Given the description of an element on the screen output the (x, y) to click on. 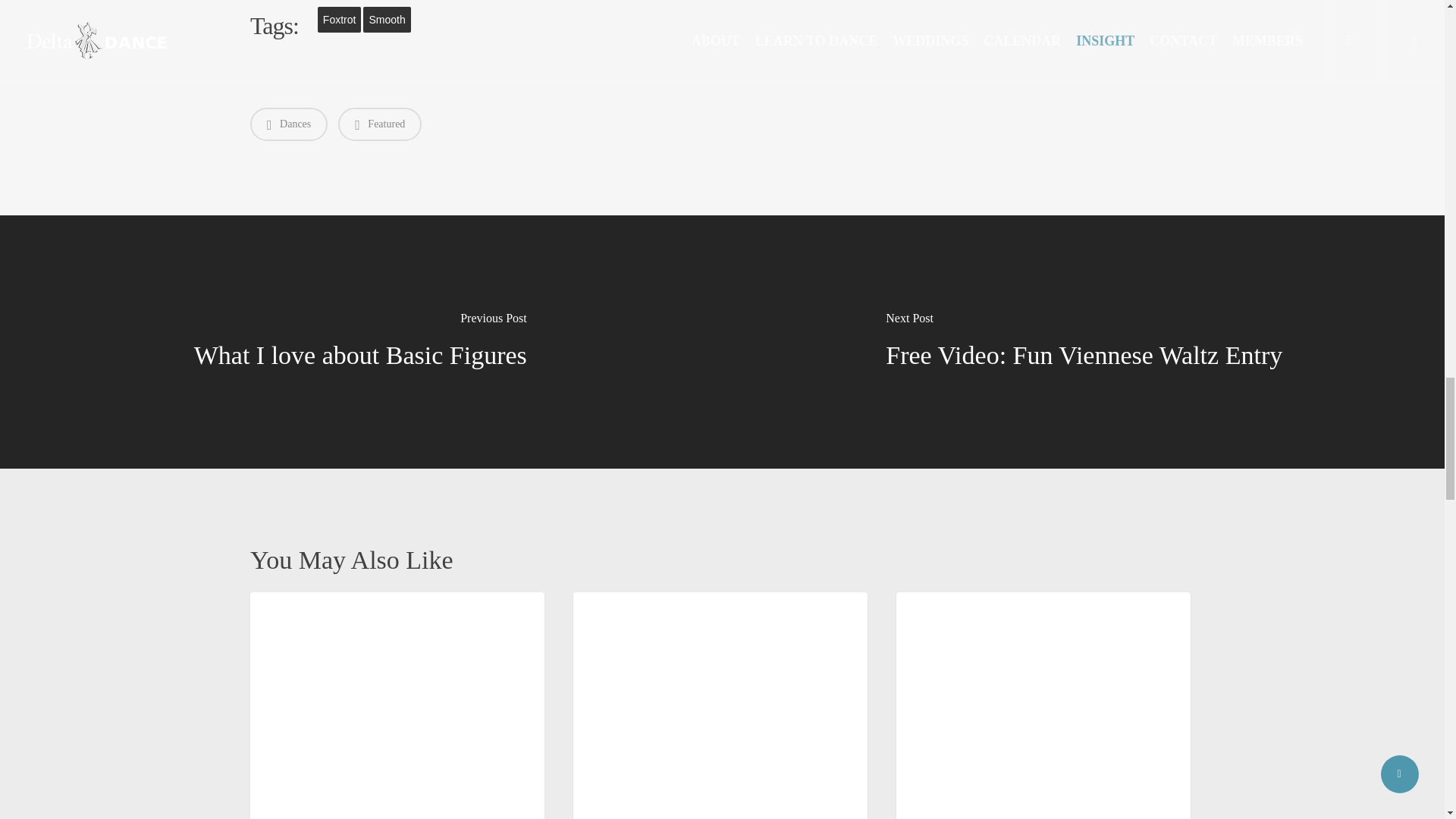
Smooth (386, 19)
Featured (379, 123)
Dances (288, 123)
Foxtrot (339, 19)
